Given the description of an element on the screen output the (x, y) to click on. 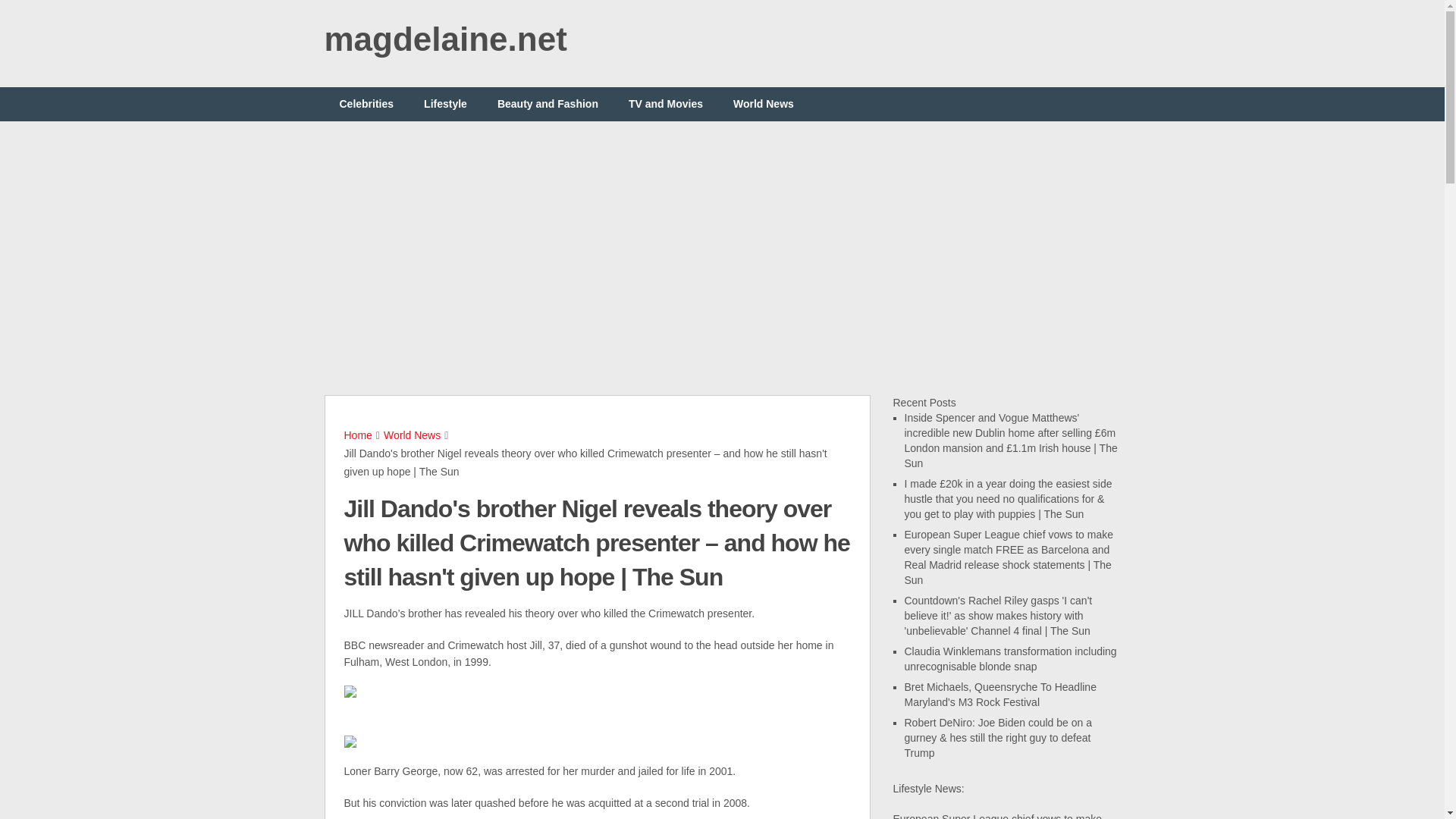
Lifestyle (445, 103)
Beauty and Fashion (546, 103)
TV and Movies (664, 103)
World News (412, 435)
magdelaine.net (445, 38)
World News (763, 103)
Celebrities (366, 103)
Home (357, 435)
